Given the description of an element on the screen output the (x, y) to click on. 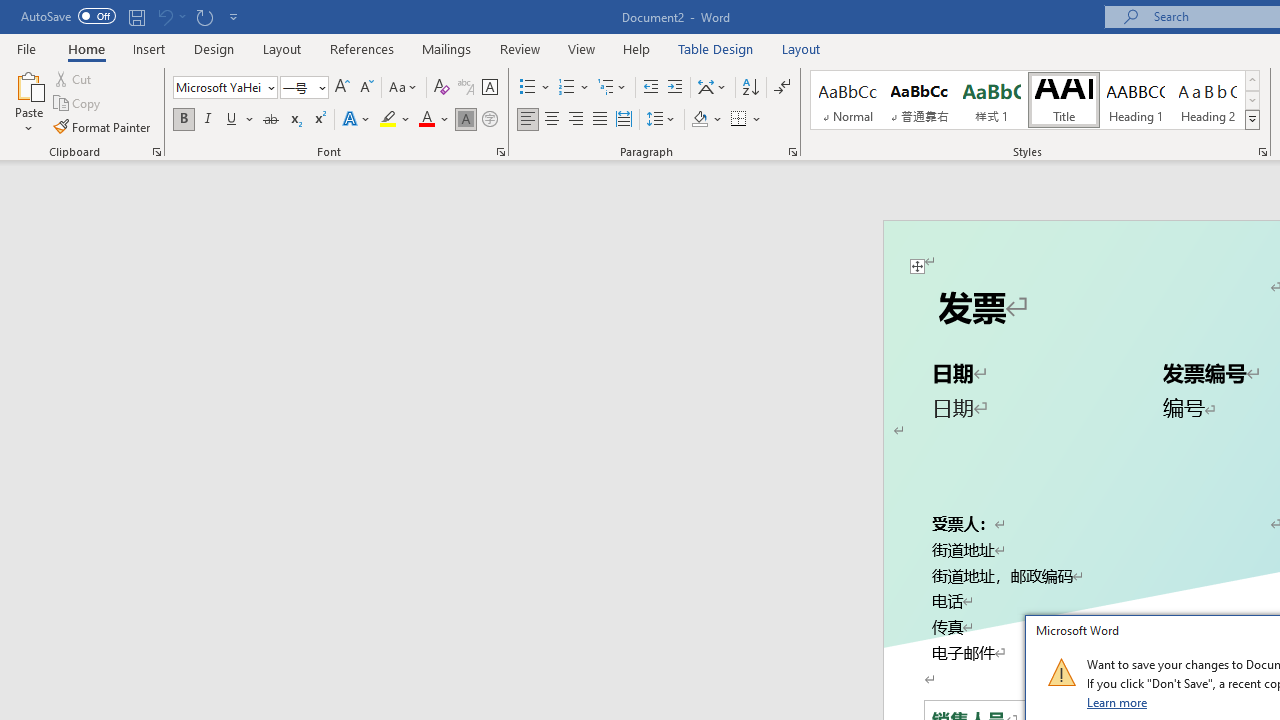
Repeat Default Char Shading (204, 15)
Heading 1 (1135, 100)
AutomationID: QuickStylesGallery (1035, 99)
